Given the description of an element on the screen output the (x, y) to click on. 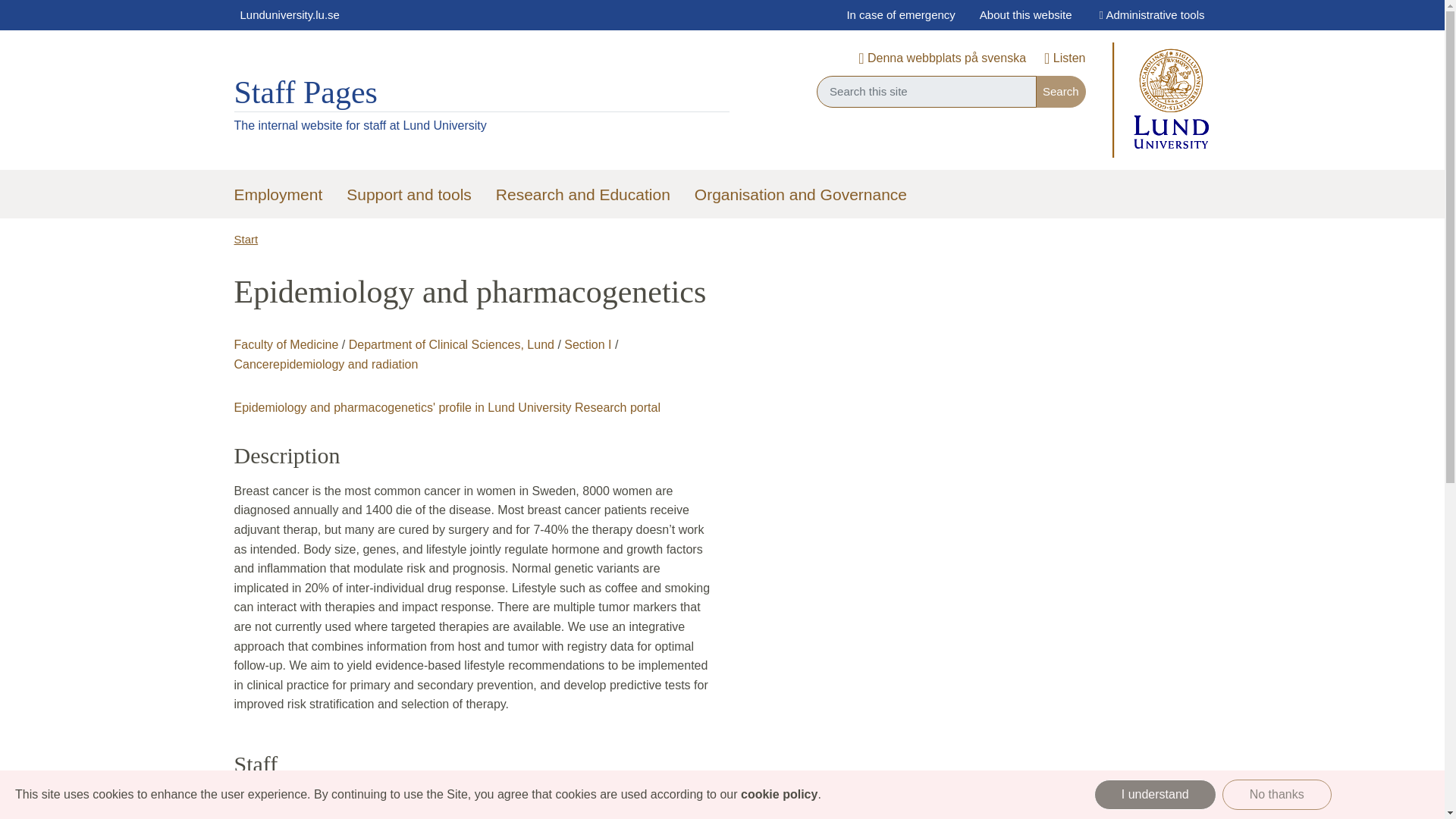
Employment (277, 195)
Search (1060, 91)
Administrative tools (1150, 15)
Support and tools (408, 195)
cookie policy (778, 793)
I understand (1154, 794)
Staff Pages (304, 92)
No thanks (1277, 794)
Lunduniversity.lu.se (288, 15)
In case of emergency (900, 15)
Search (1060, 91)
About this website (1026, 15)
Listen (1063, 59)
